Given the description of an element on the screen output the (x, y) to click on. 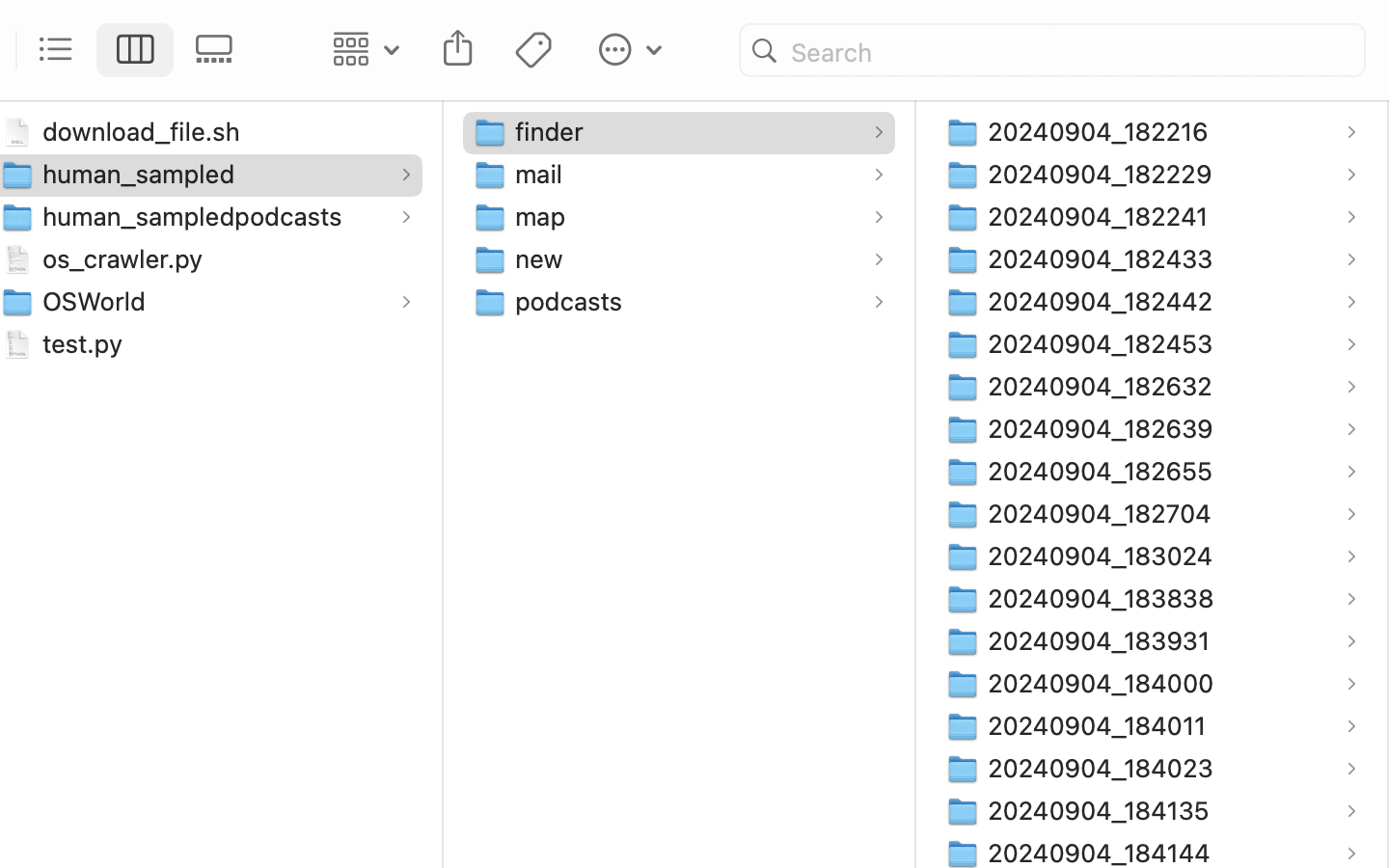
20240904_183838 Element type: AXTextField (1104, 597)
finder Element type: AXTextField (553, 130)
1 Element type: AXRadioButton (135, 49)
new Element type: AXTextField (542, 258)
20240904_182229 Element type: AXTextField (1104, 173)
